Given the description of an element on the screen output the (x, y) to click on. 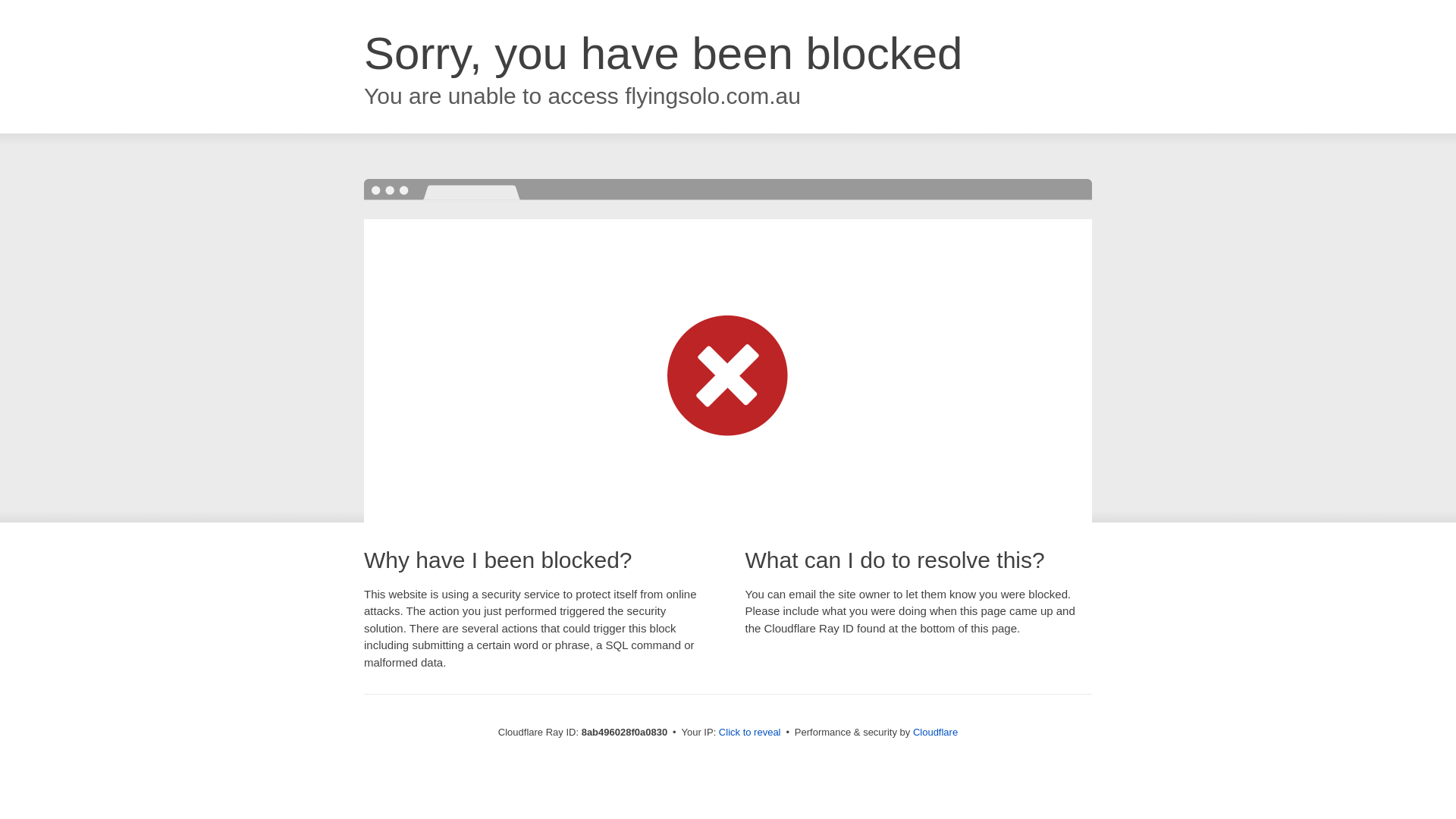
Cloudflare (935, 731)
Click to reveal (749, 732)
